Given the description of an element on the screen output the (x, y) to click on. 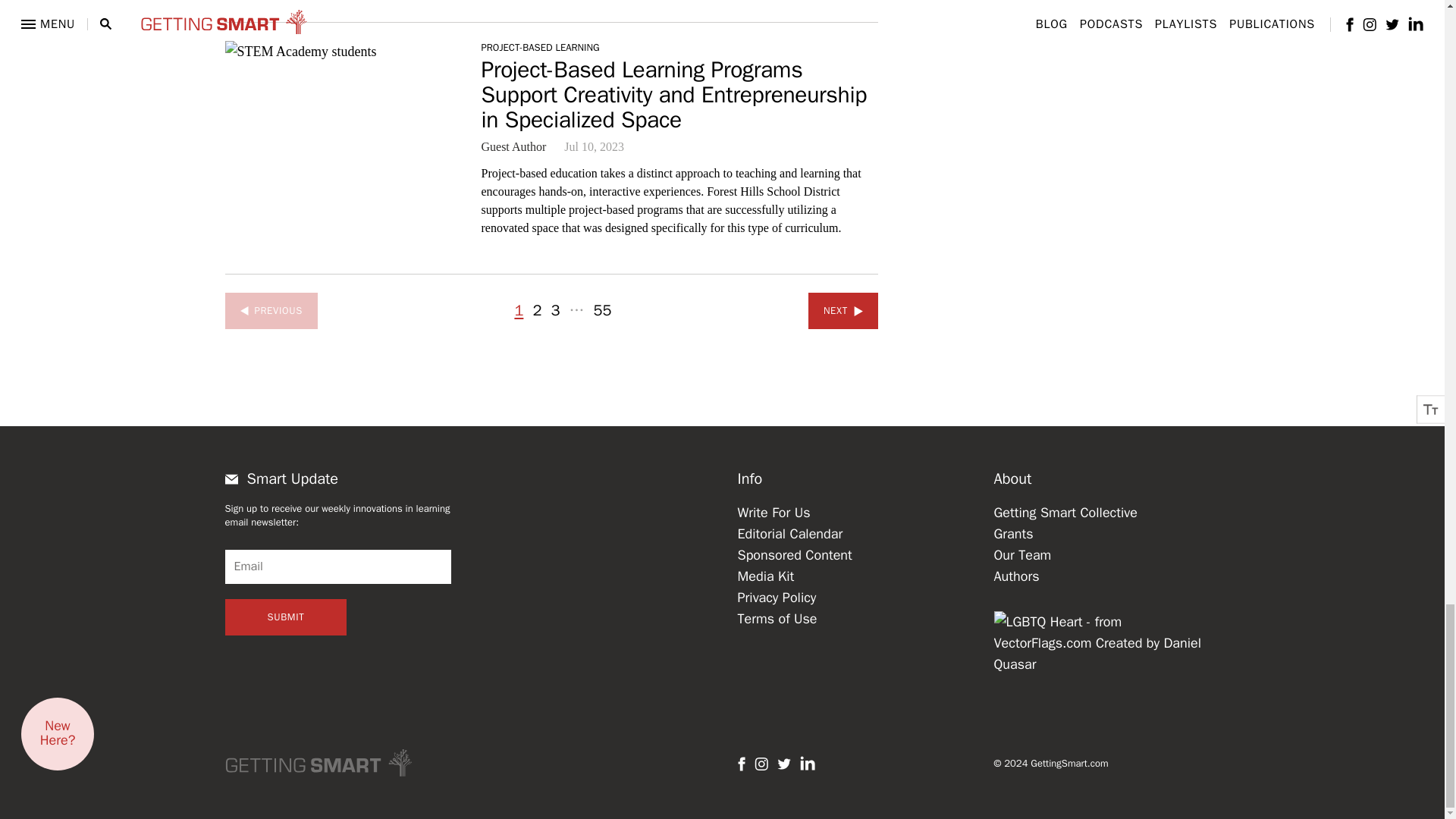
linkedin (806, 762)
instagram (760, 763)
twitter (783, 763)
